Given the description of an element on the screen output the (x, y) to click on. 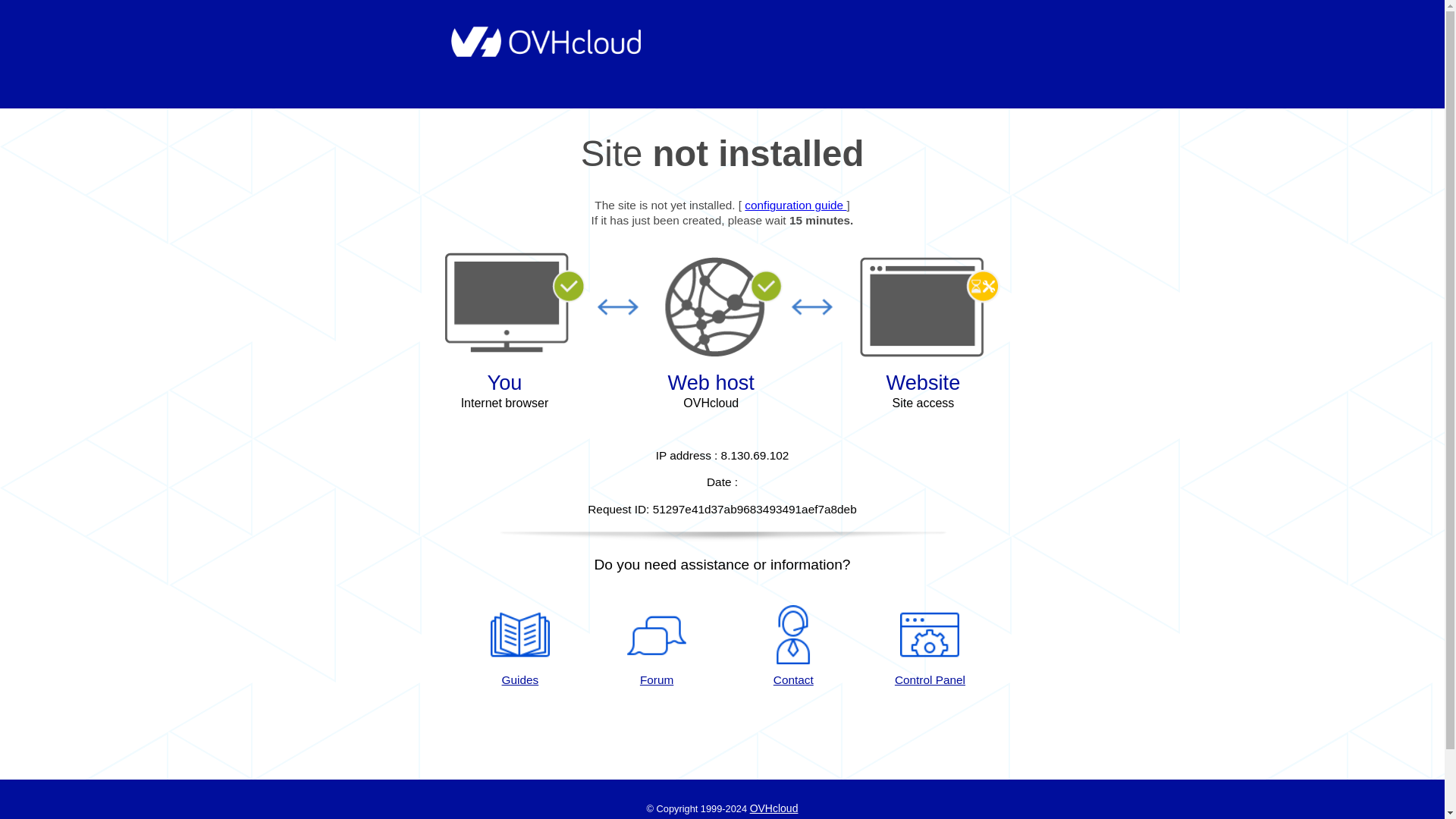
Contact (793, 646)
Guides (519, 646)
Contact (793, 646)
OVHcloud (773, 808)
Forum (656, 646)
Guides (519, 646)
Forum (656, 646)
configuration guide (794, 205)
Control Panel (930, 646)
Guides (794, 205)
Control Panel (930, 646)
